Given the description of an element on the screen output the (x, y) to click on. 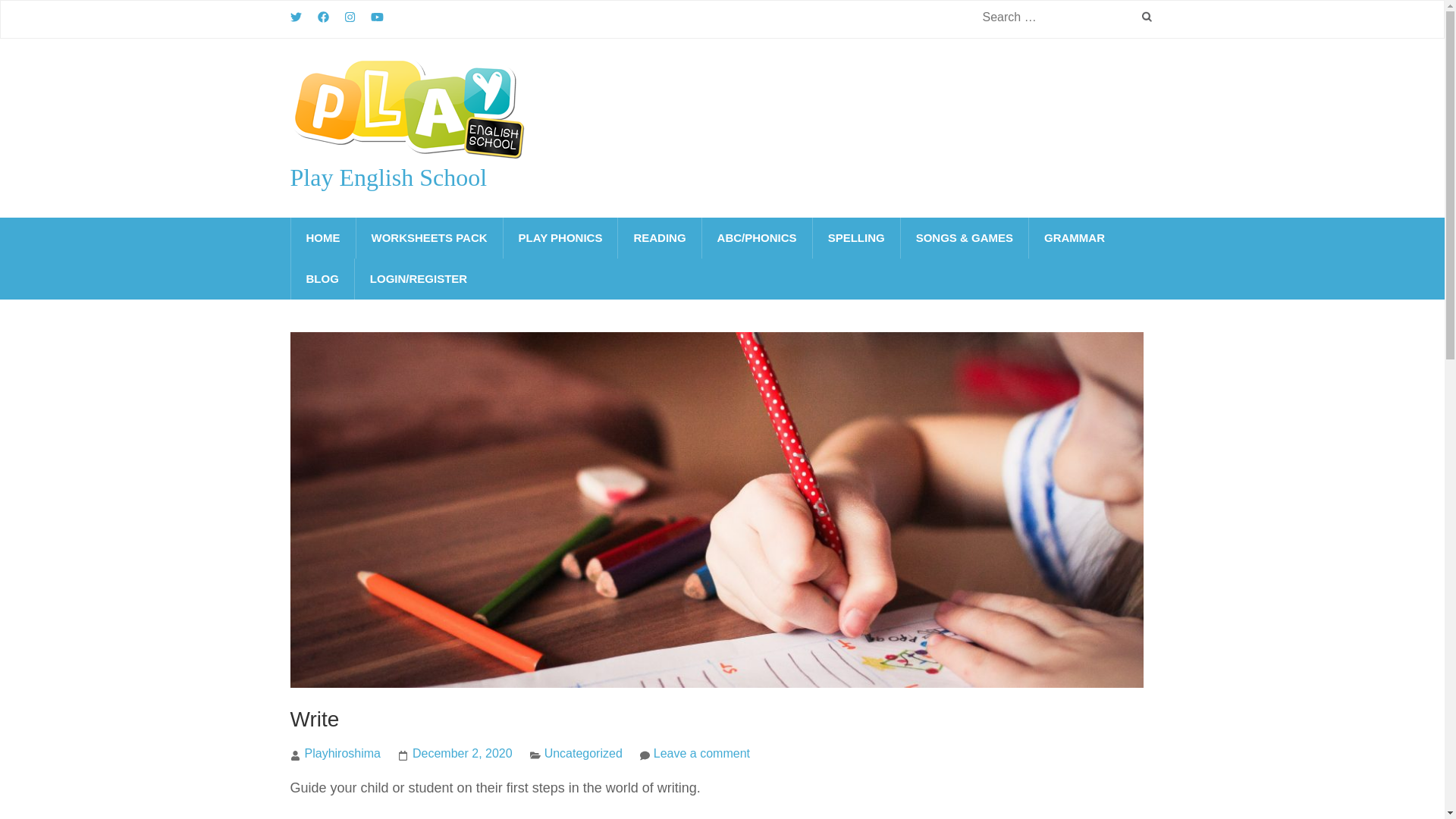
twitter (295, 17)
Search (1147, 18)
instagram (348, 17)
youtube (377, 17)
Search (1147, 18)
facebook (323, 17)
